Given the description of an element on the screen output the (x, y) to click on. 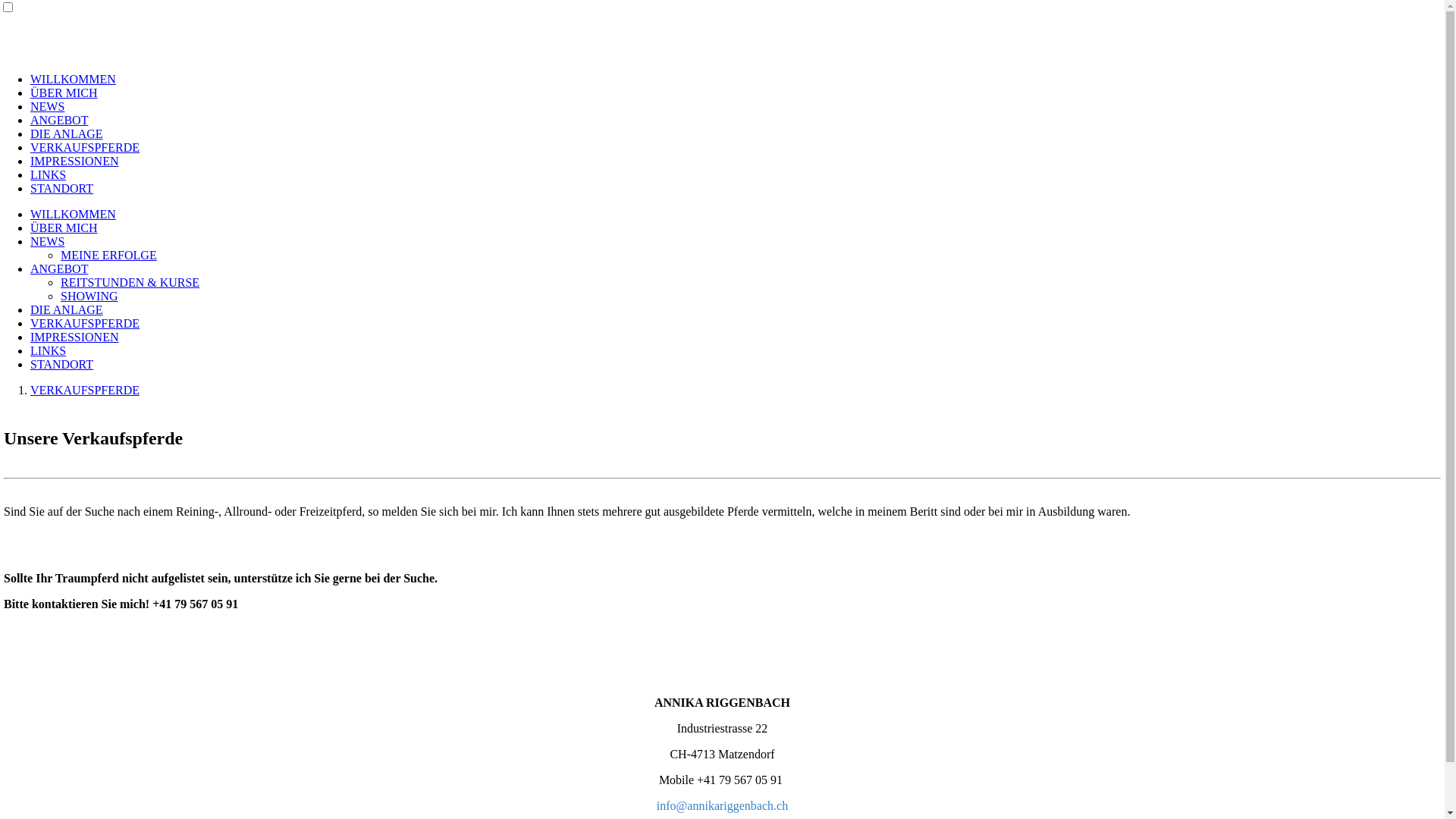
NEWS Element type: text (47, 241)
VERKAUFSPFERDE Element type: text (84, 389)
LINKS Element type: text (47, 174)
REITSTUNDEN & KURSE Element type: text (129, 282)
ANGEBOT Element type: text (58, 268)
STANDORT Element type: text (61, 363)
WILLKOMMEN Element type: text (73, 213)
SHOWING Element type: text (89, 295)
NEWS Element type: text (47, 106)
VERKAUFSPFERDE Element type: text (84, 322)
LINKS Element type: text (47, 350)
info@annikariggenbach.ch Element type: text (721, 805)
DIE ANLAGE Element type: text (66, 309)
IMPRESSIONEN Element type: text (74, 160)
ANGEBOT Element type: text (58, 119)
WILLKOMMEN Element type: text (73, 78)
VERKAUFSPFERDE Element type: text (84, 147)
MEINE ERFOLGE Element type: text (108, 254)
STANDORT Element type: text (61, 188)
DIE ANLAGE Element type: text (66, 133)
IMPRESSIONEN Element type: text (74, 336)
